Given the description of an element on the screen output the (x, y) to click on. 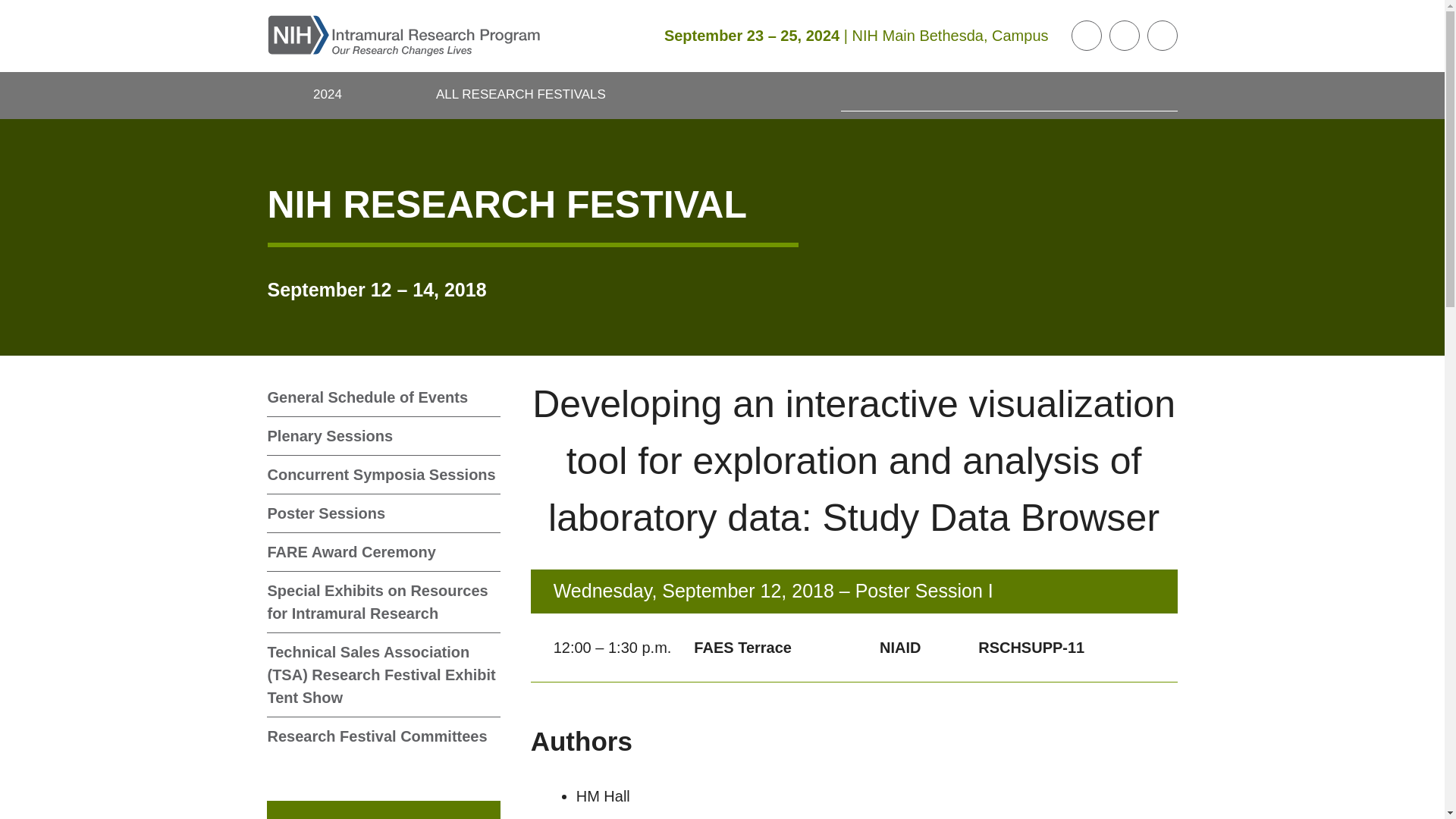
2024 NIH Research Festival (327, 95)
2024 (327, 95)
Skip to main content (11, 11)
